Given the description of an element on the screen output the (x, y) to click on. 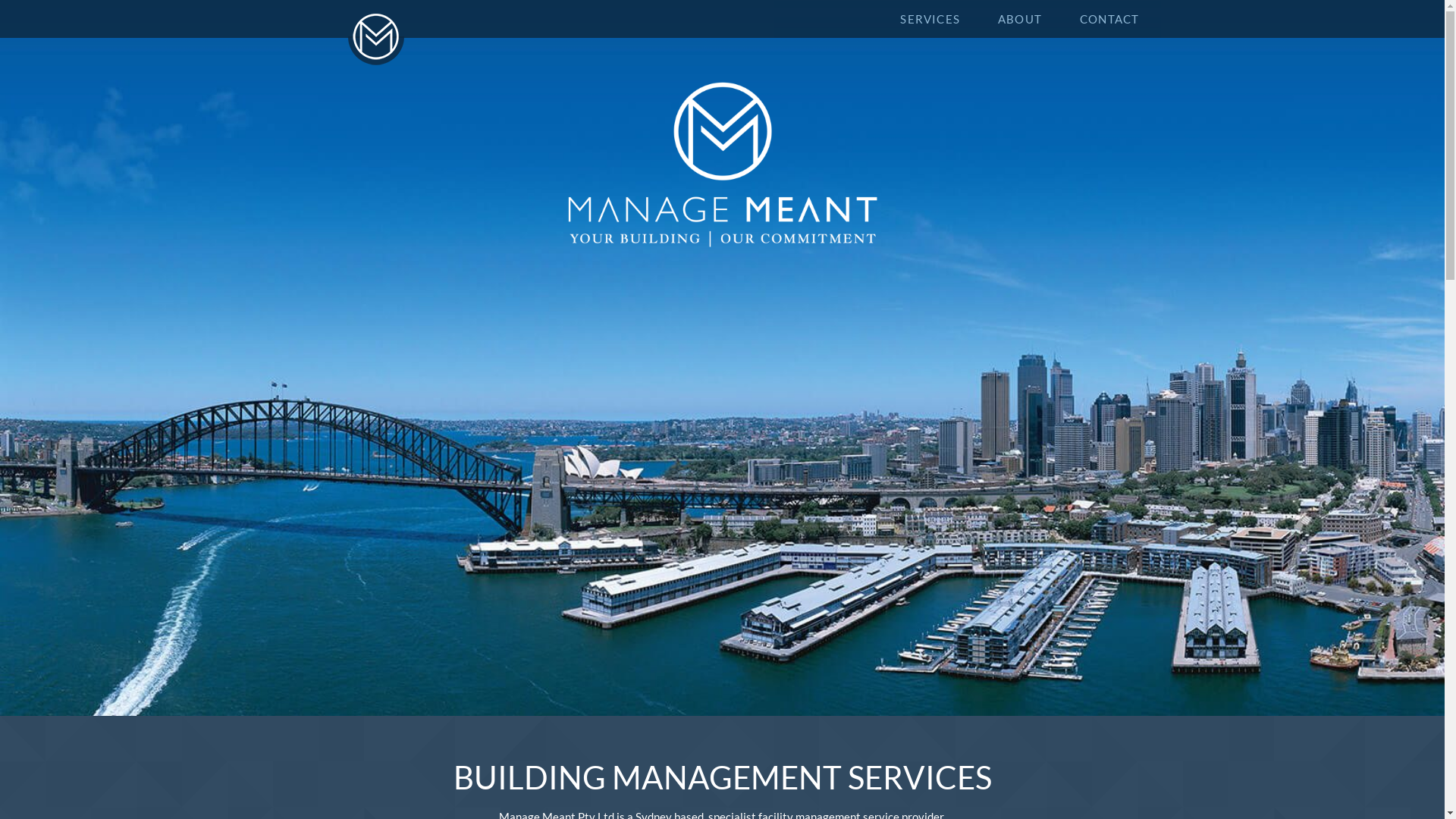
ABOUT Element type: text (1023, 18)
SERVICES Element type: text (933, 18)
CONTACT Element type: text (1109, 18)
